Given the description of an element on the screen output the (x, y) to click on. 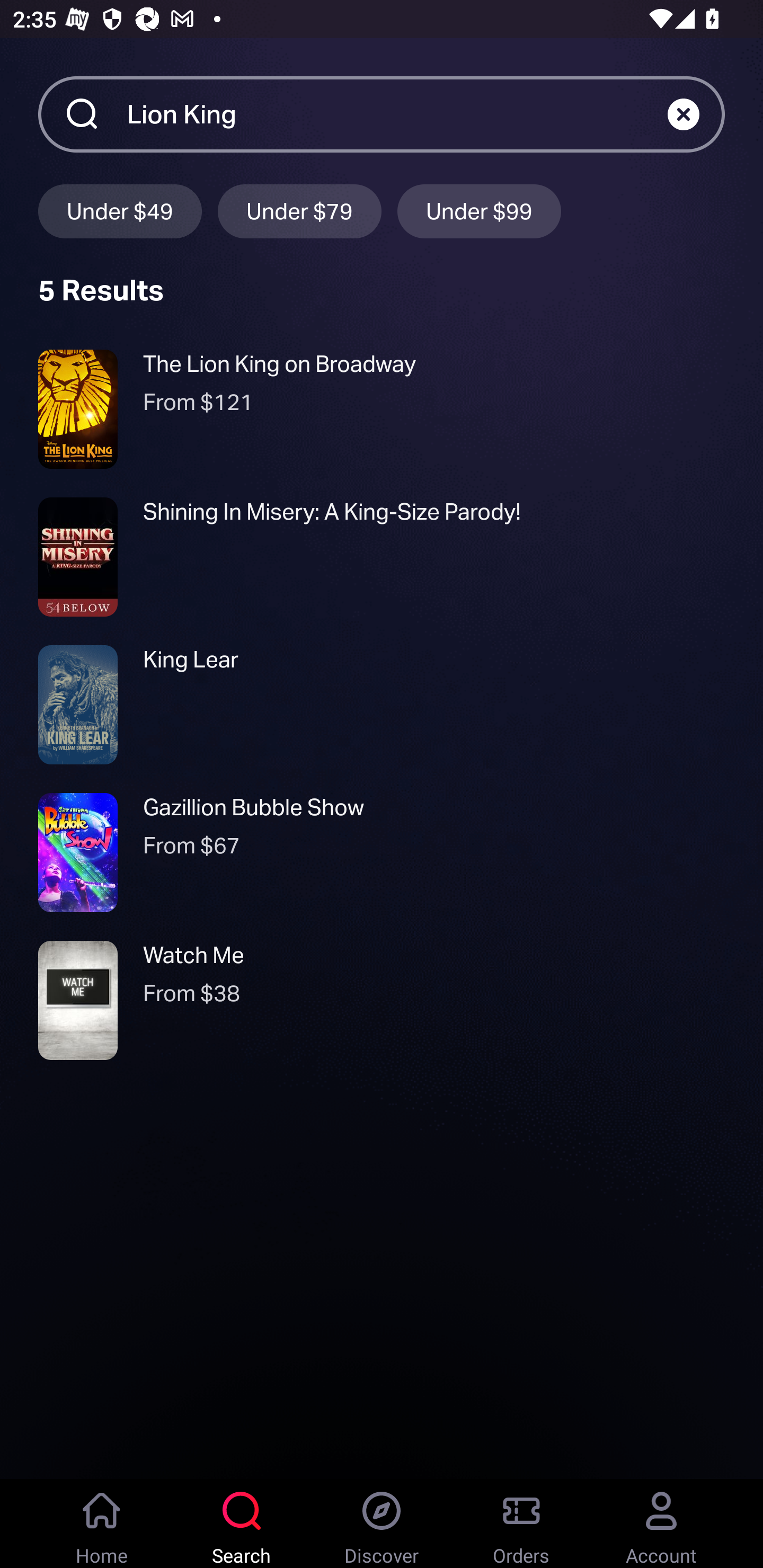
Lion King (397, 113)
Under $49 (120, 211)
Under $79 (299, 211)
Under $99 (478, 211)
King Lear  King Lear (381, 704)
Watch Me $38  Watch Me From $38 (381, 999)
Home (101, 1523)
Discover (381, 1523)
Orders (521, 1523)
Account (660, 1523)
